Given the description of an element on the screen output the (x, y) to click on. 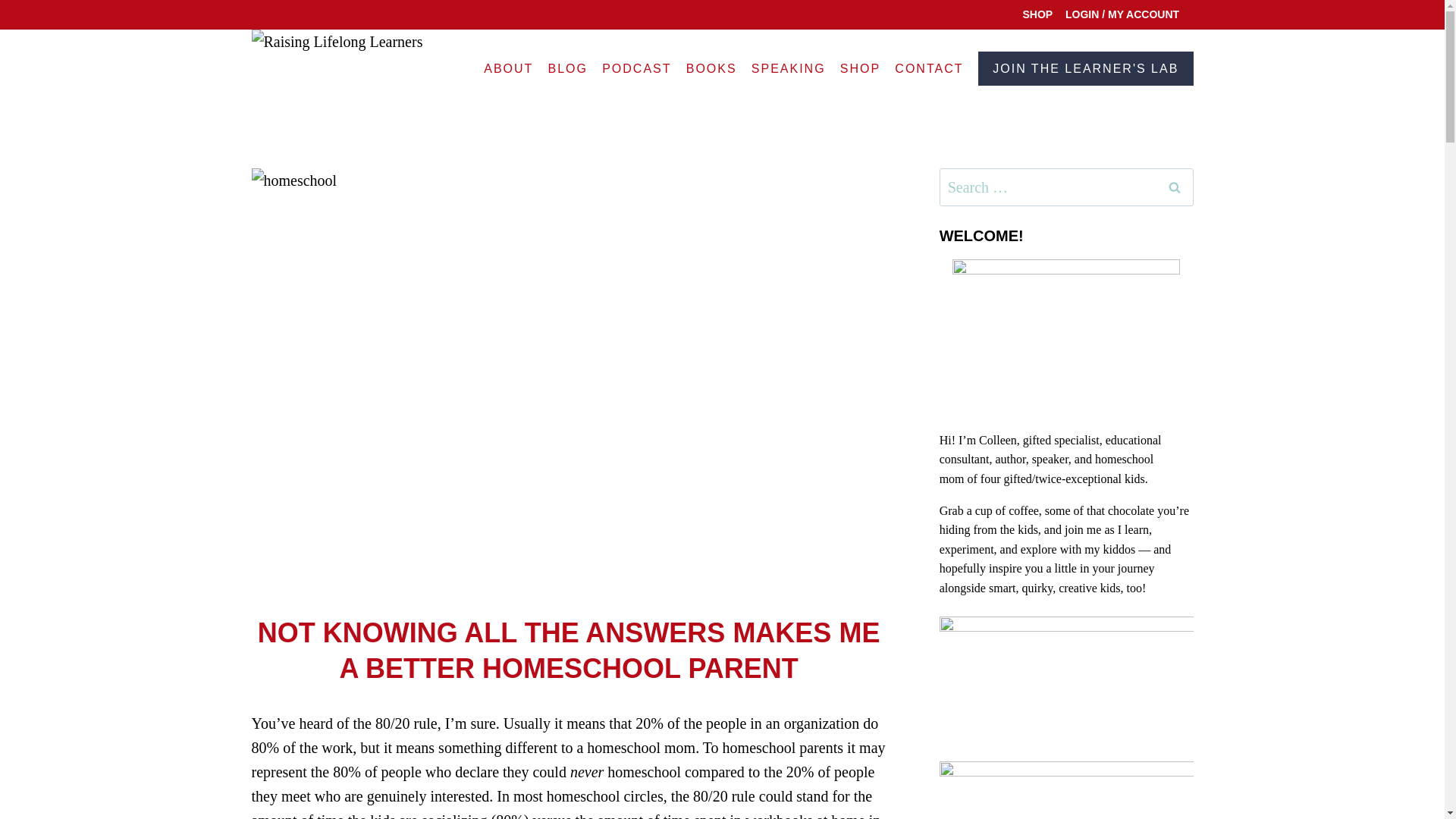
BLOG (567, 68)
PODCAST (637, 68)
ABOUT (508, 68)
Search (1174, 187)
CONTACT (929, 68)
JOIN THE LEARNER'S LAB (1085, 68)
SHOP (860, 68)
SPEAKING (788, 68)
SHOP (1037, 14)
BOOKS (711, 68)
